Given the description of an element on the screen output the (x, y) to click on. 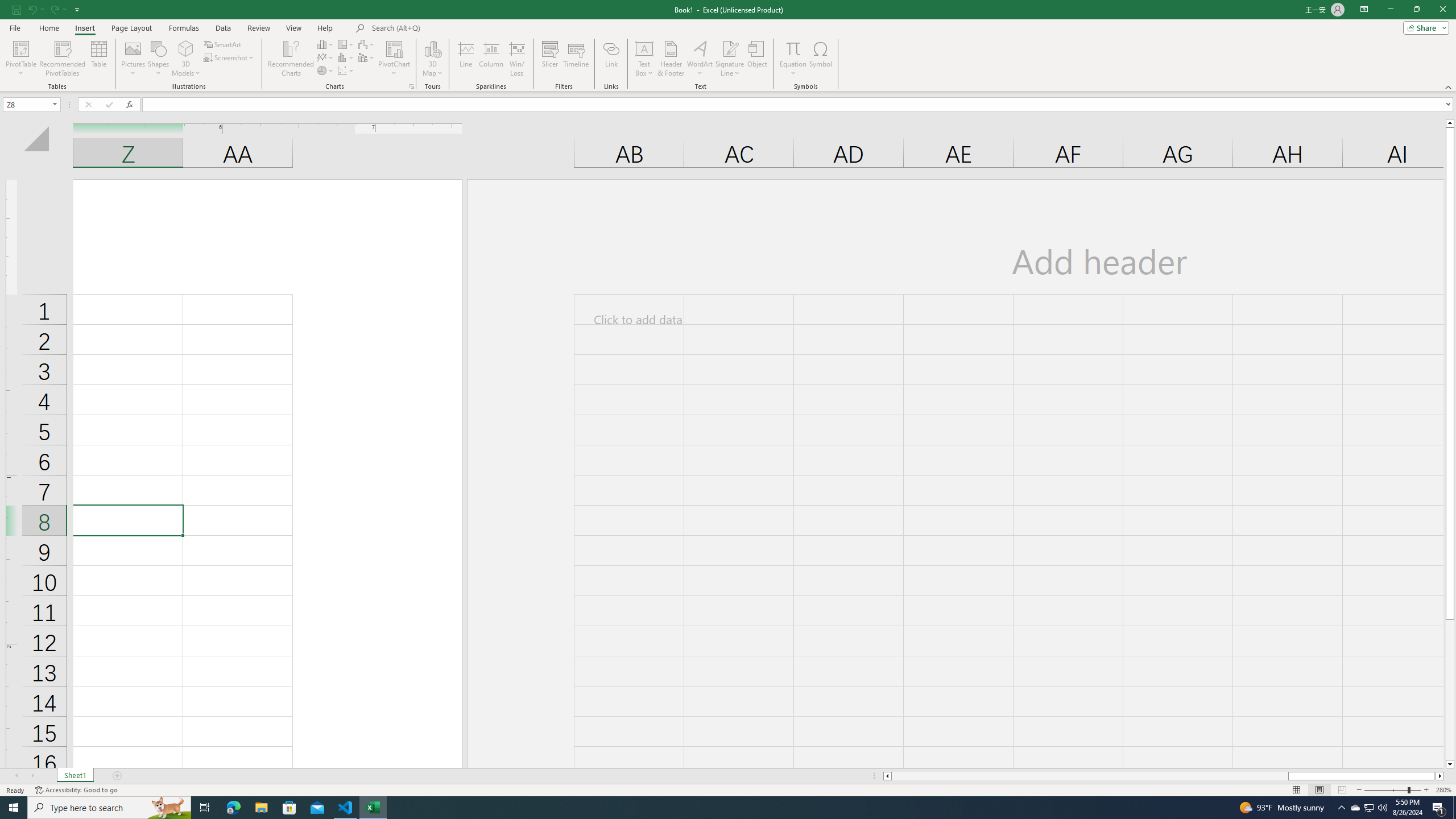
Insert Scatter (X, Y) or Bubble Chart (346, 69)
Signature Line (729, 58)
Table (98, 58)
PivotChart (394, 48)
Slicer... (550, 58)
Text Box (643, 58)
